Given the description of an element on the screen output the (x, y) to click on. 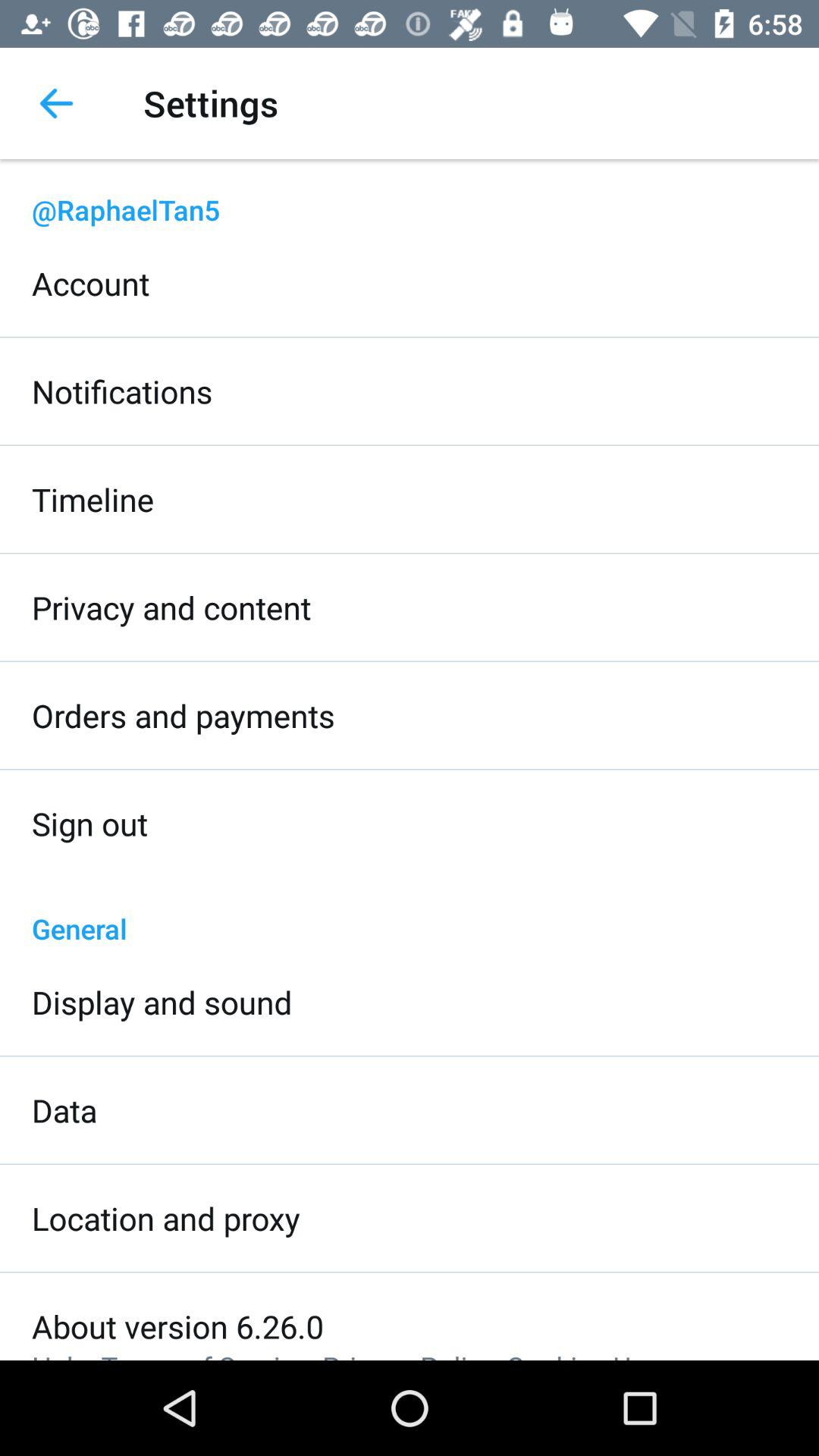
click the item at the center (409, 912)
